Given the description of an element on the screen output the (x, y) to click on. 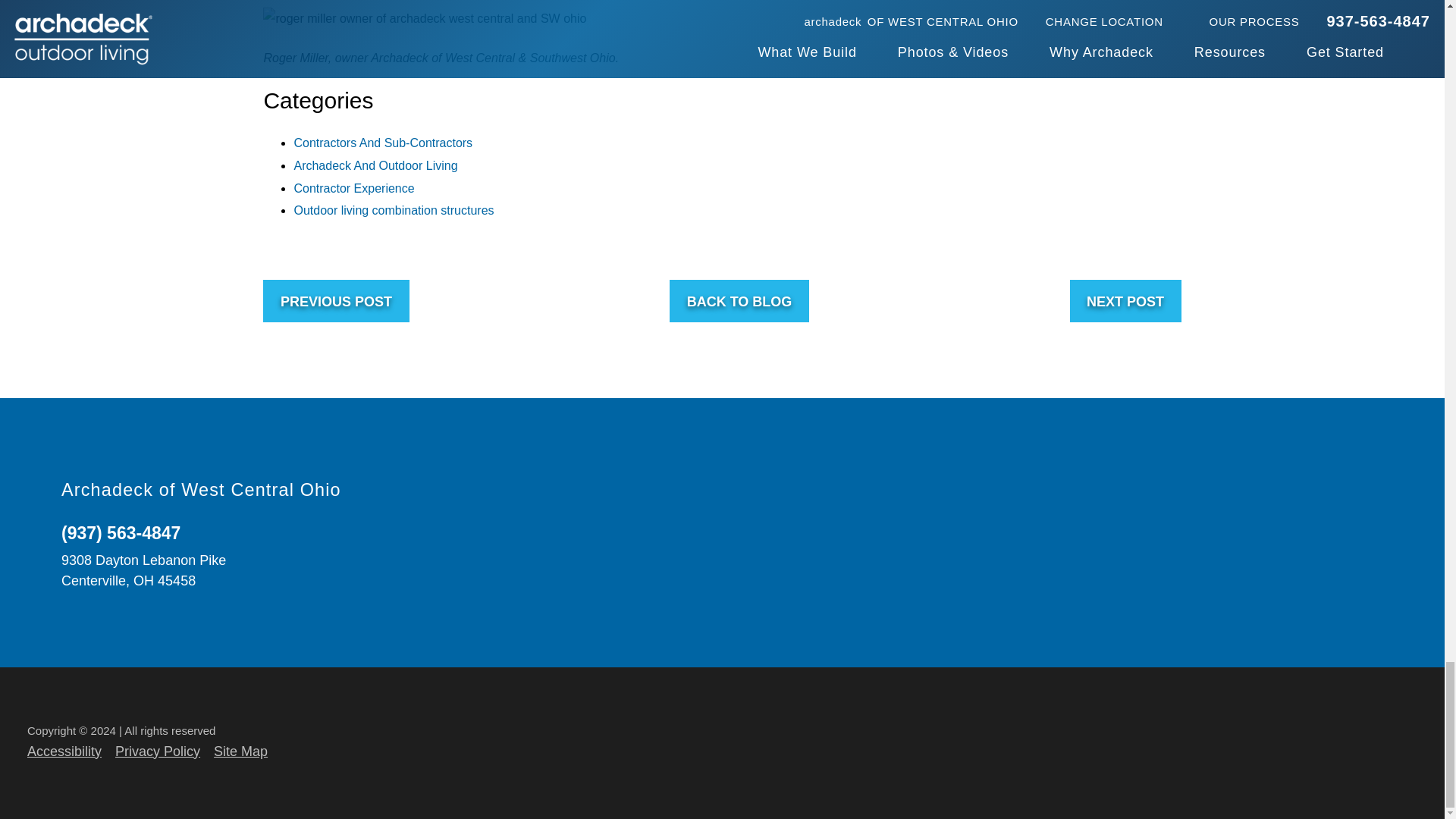
Porch (1345, 564)
Houzz (1307, 527)
BBB (1381, 564)
Facebook (1269, 492)
LinkedIn (1307, 492)
Angie's List (1307, 564)
Yelp (1345, 527)
YouTube (1345, 492)
Twitter (1381, 492)
Google My Business (1269, 527)
Pinterest (1381, 527)
